Given the description of an element on the screen output the (x, y) to click on. 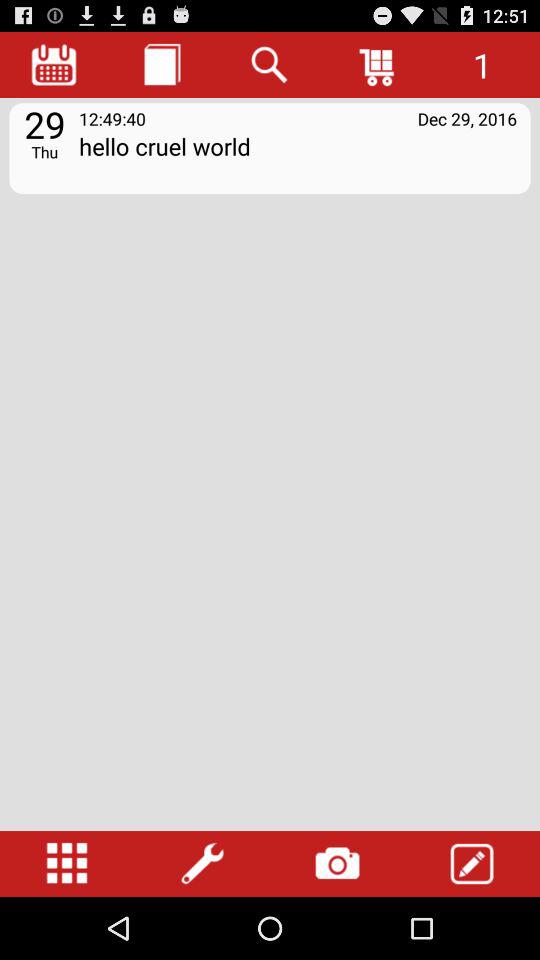
cart (377, 64)
